Given the description of an element on the screen output the (x, y) to click on. 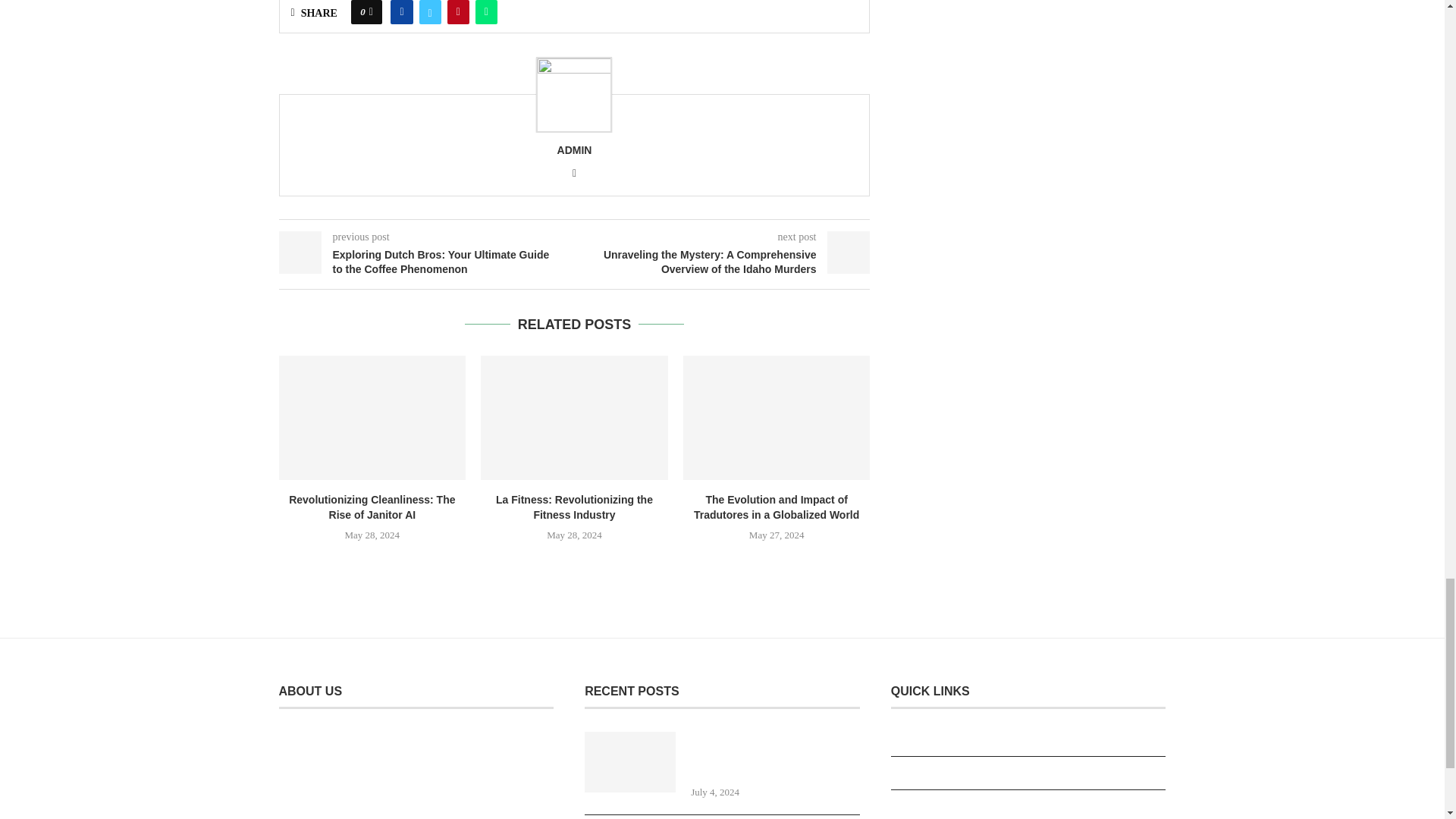
Author admin (574, 150)
Revolutionizing Cleanliness: The Rise of Janitor AI (372, 417)
